Given the description of an element on the screen output the (x, y) to click on. 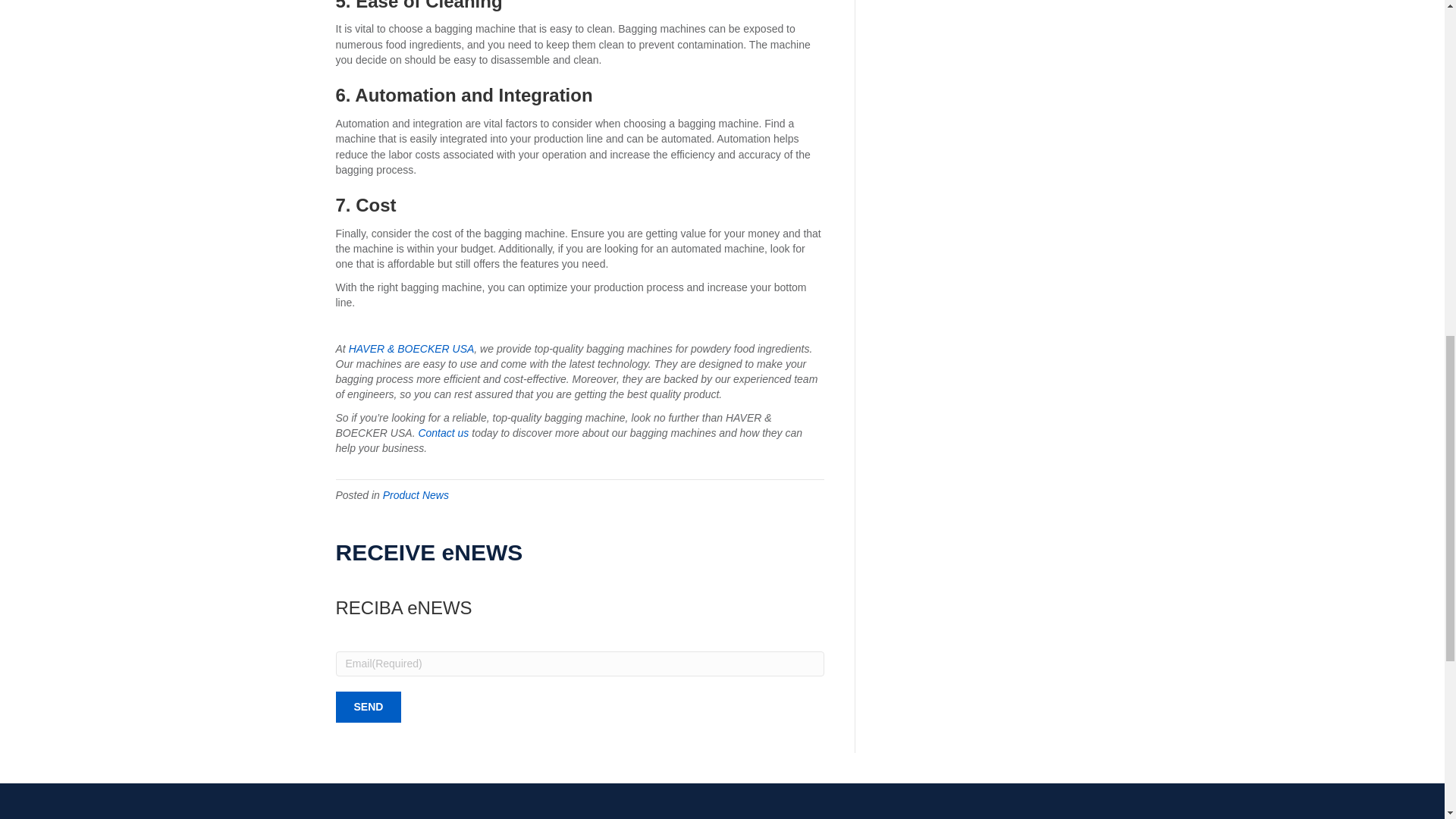
Send (367, 706)
